Given the description of an element on the screen output the (x, y) to click on. 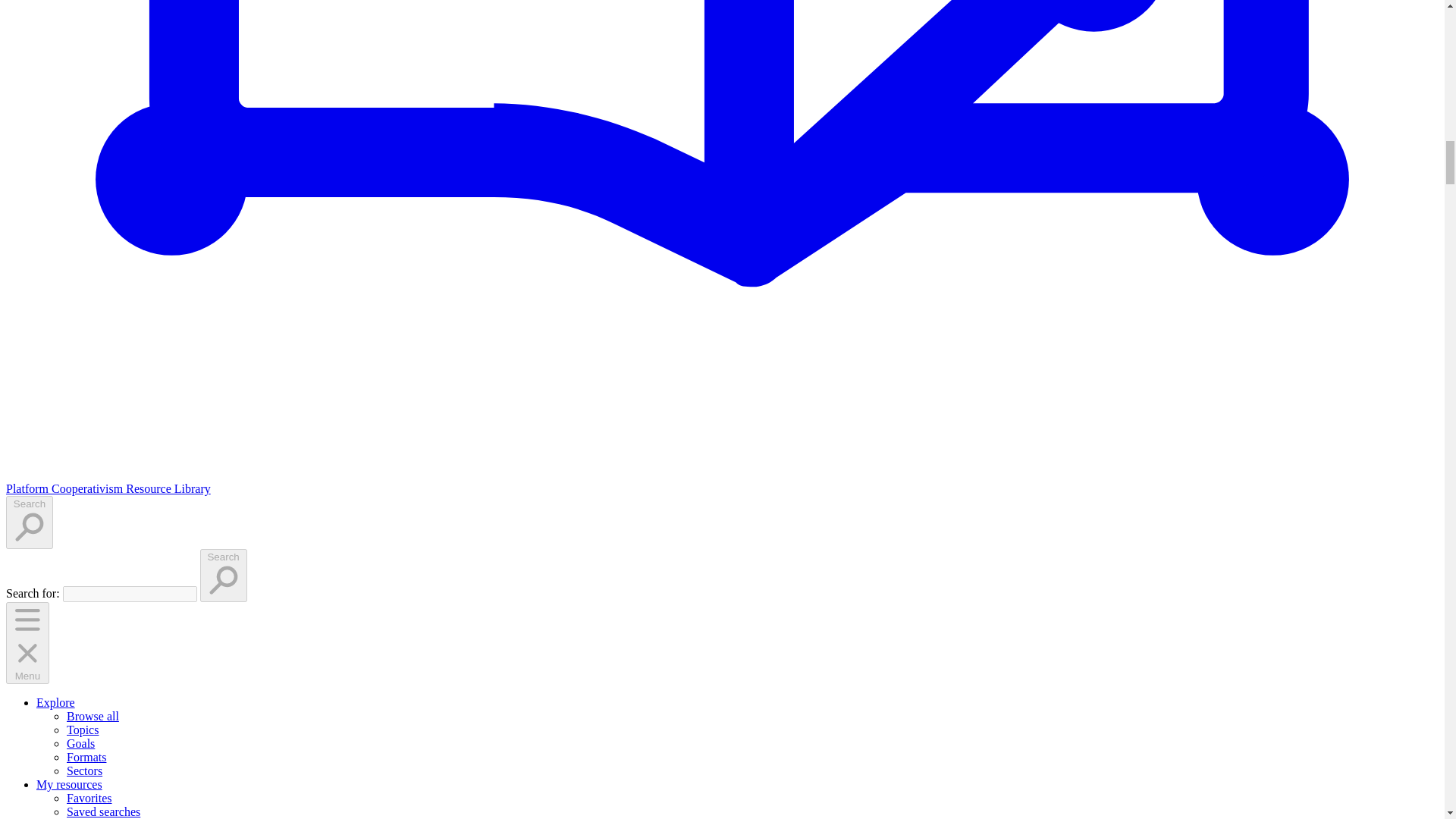
Favorites (89, 797)
Formats (86, 757)
Browse all (92, 716)
Topics (82, 729)
Saved searches (102, 811)
Explore (55, 702)
Goals (80, 743)
My resources (68, 784)
Sectors (83, 770)
